Given the description of an element on the screen output the (x, y) to click on. 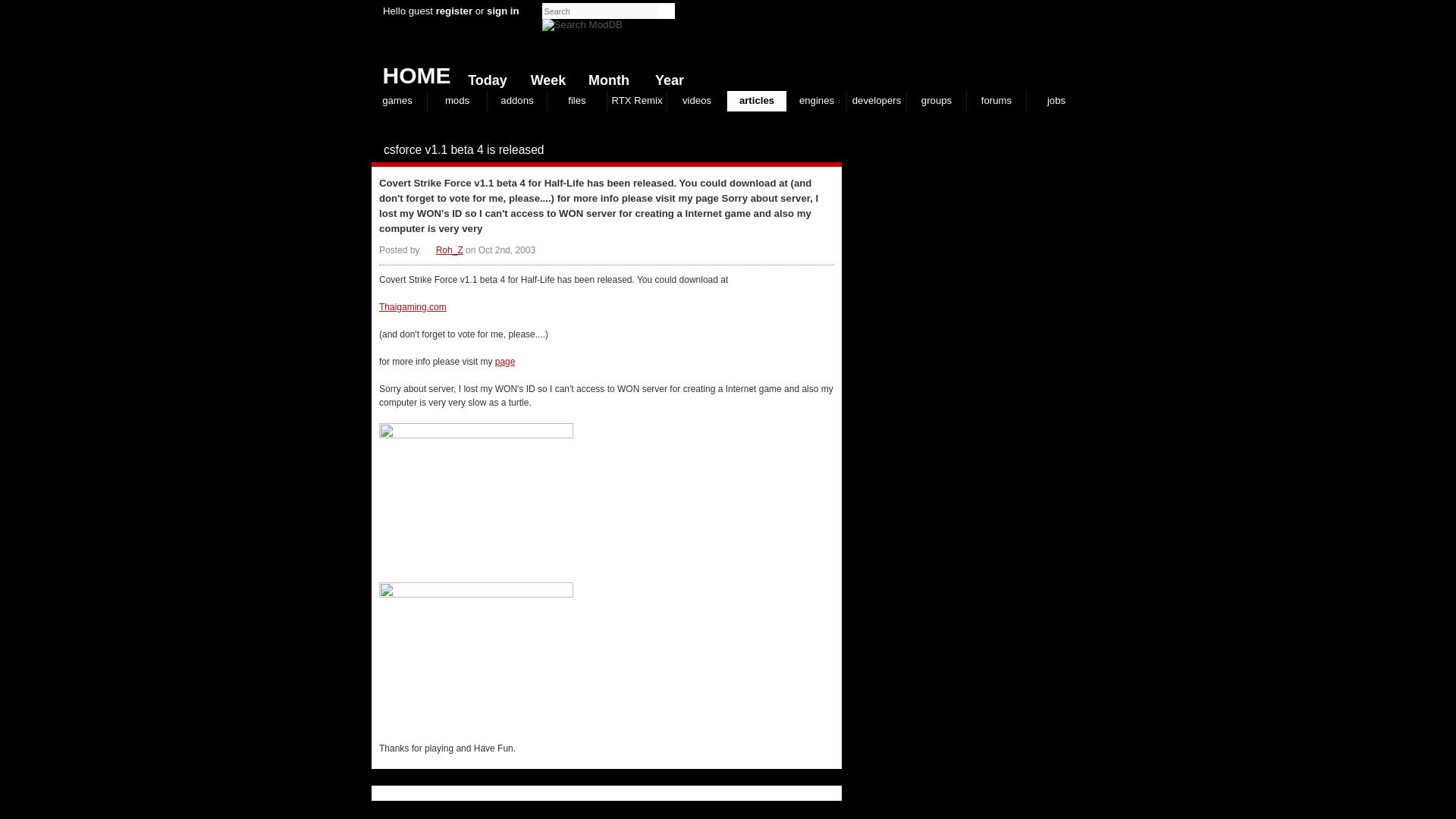
games (397, 100)
Week (545, 76)
register (453, 10)
videos (696, 100)
addons (517, 100)
New today (483, 76)
Post news (803, 150)
Article Manager (442, 249)
Search (582, 24)
ModDB Home (970, 45)
HOME (410, 71)
New this week (545, 76)
Today (483, 76)
RSS (834, 150)
Search ModDB (582, 24)
